Given the description of an element on the screen output the (x, y) to click on. 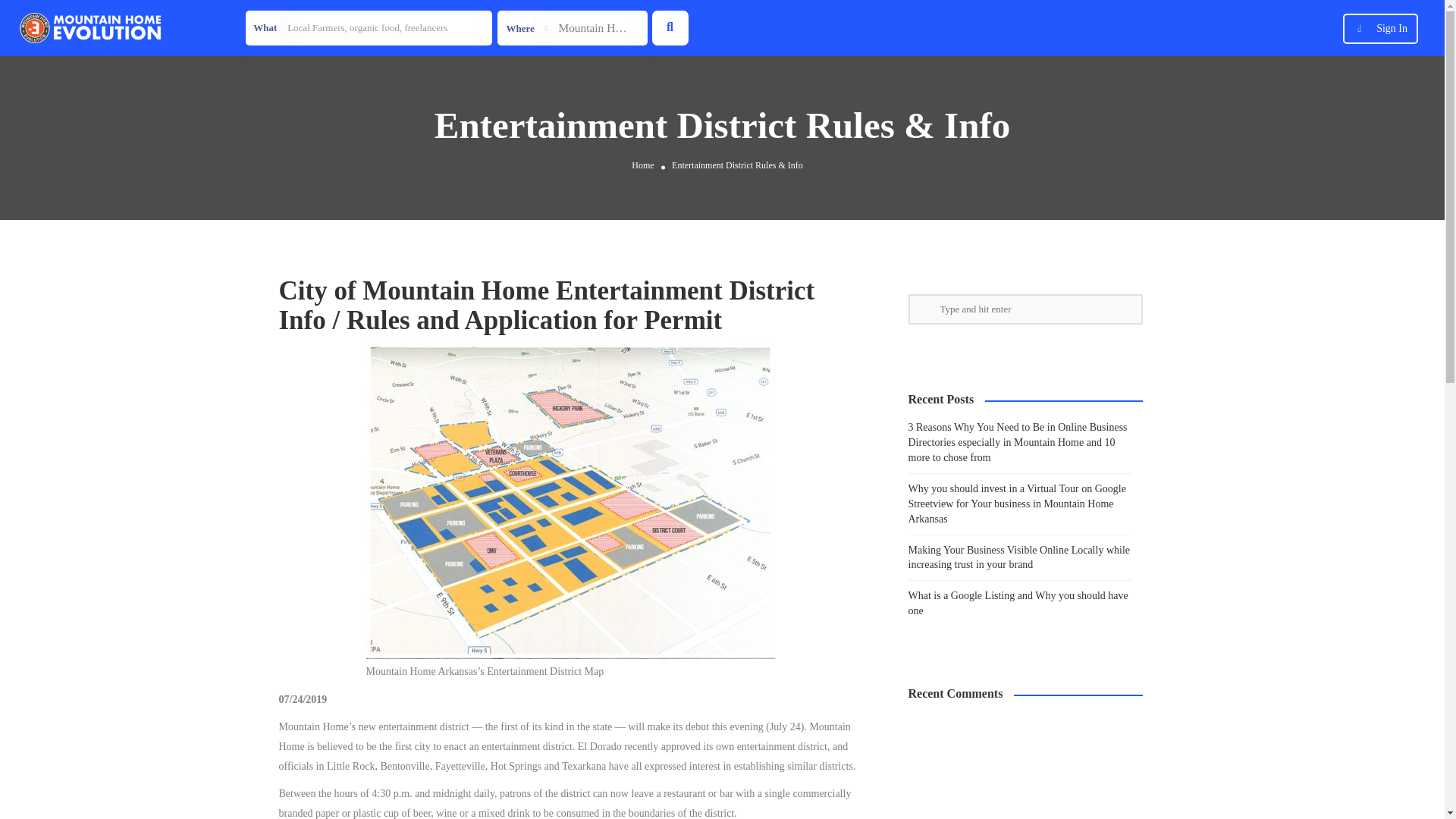
What is a Google Listing and Why you should have one (1018, 602)
Home (642, 164)
Mountain Home (571, 27)
Sign In (1391, 28)
